Given the description of an element on the screen output the (x, y) to click on. 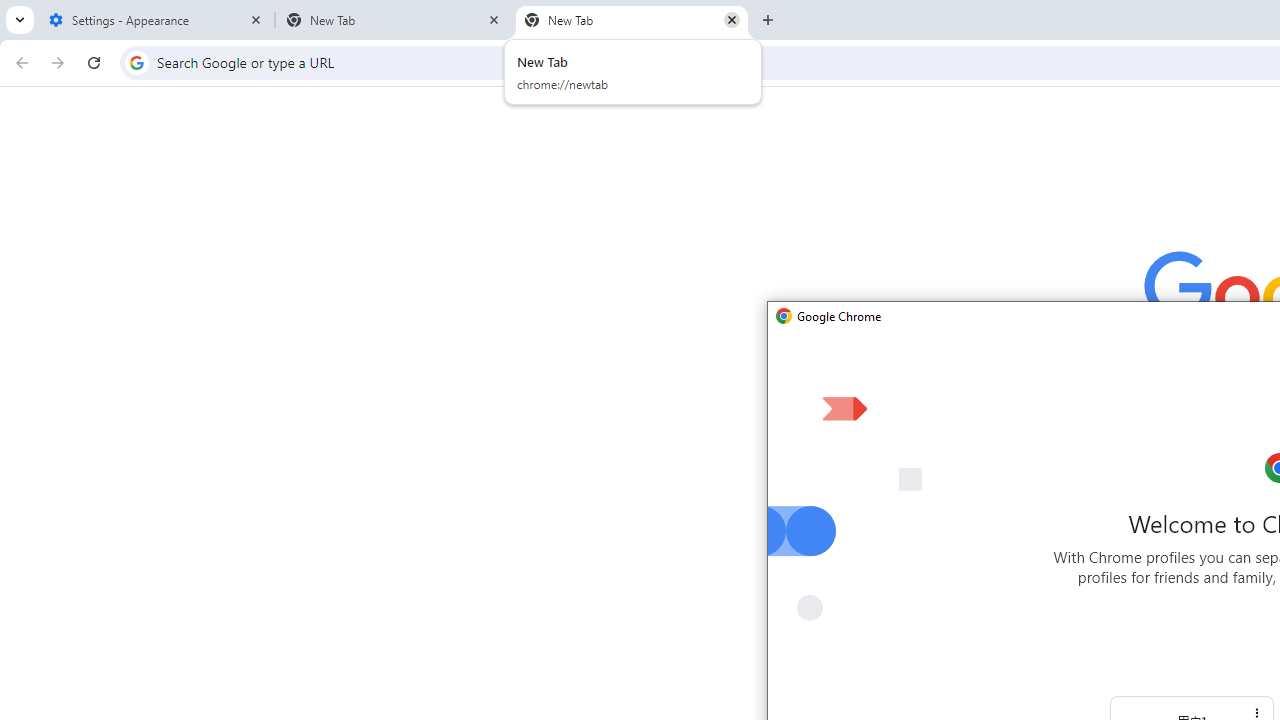
New Tab (632, 20)
Settings - Appearance (156, 20)
